Given the description of an element on the screen output the (x, y) to click on. 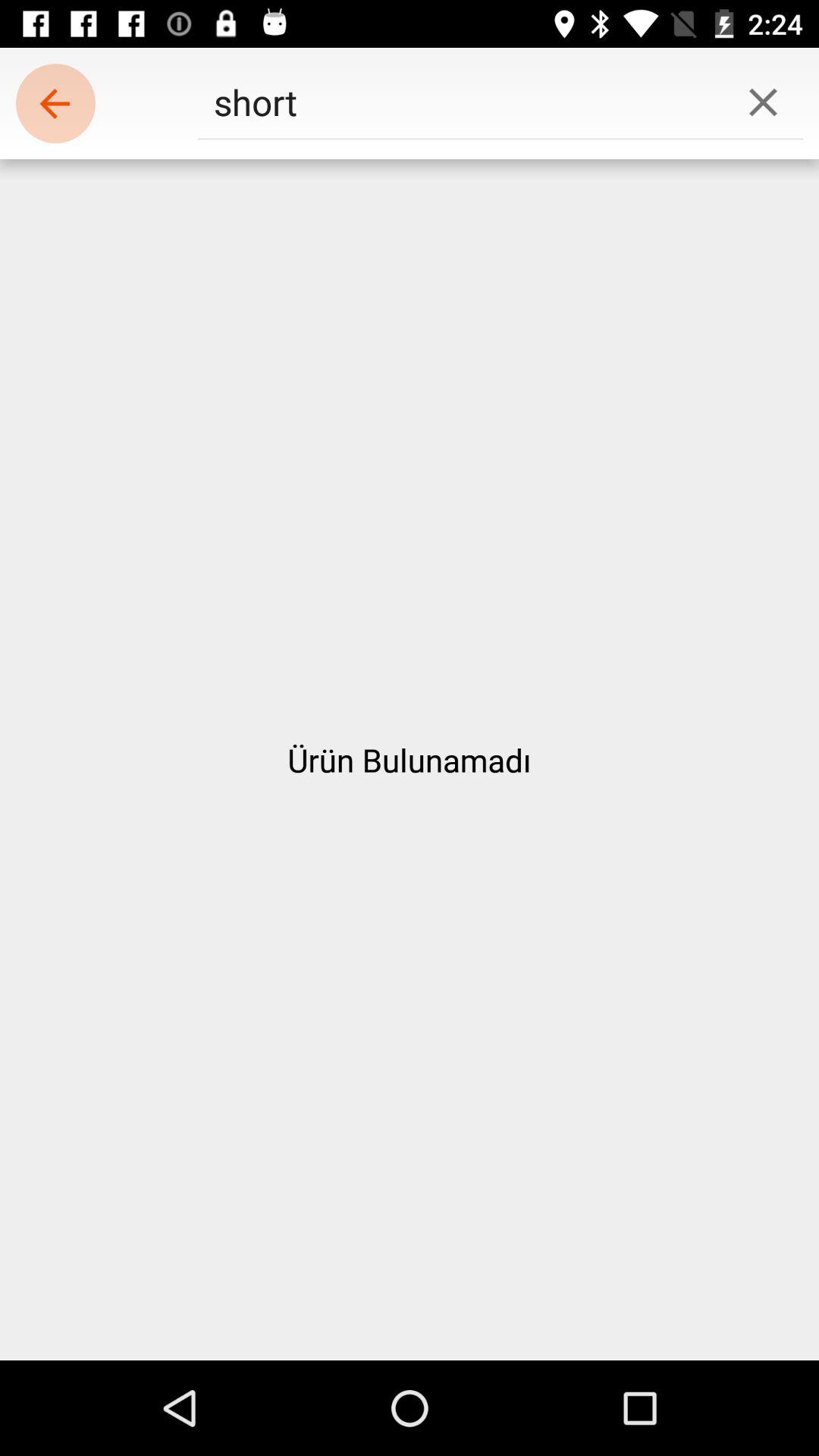
turn off the icon to the left of short icon (55, 103)
